Given the description of an element on the screen output the (x, y) to click on. 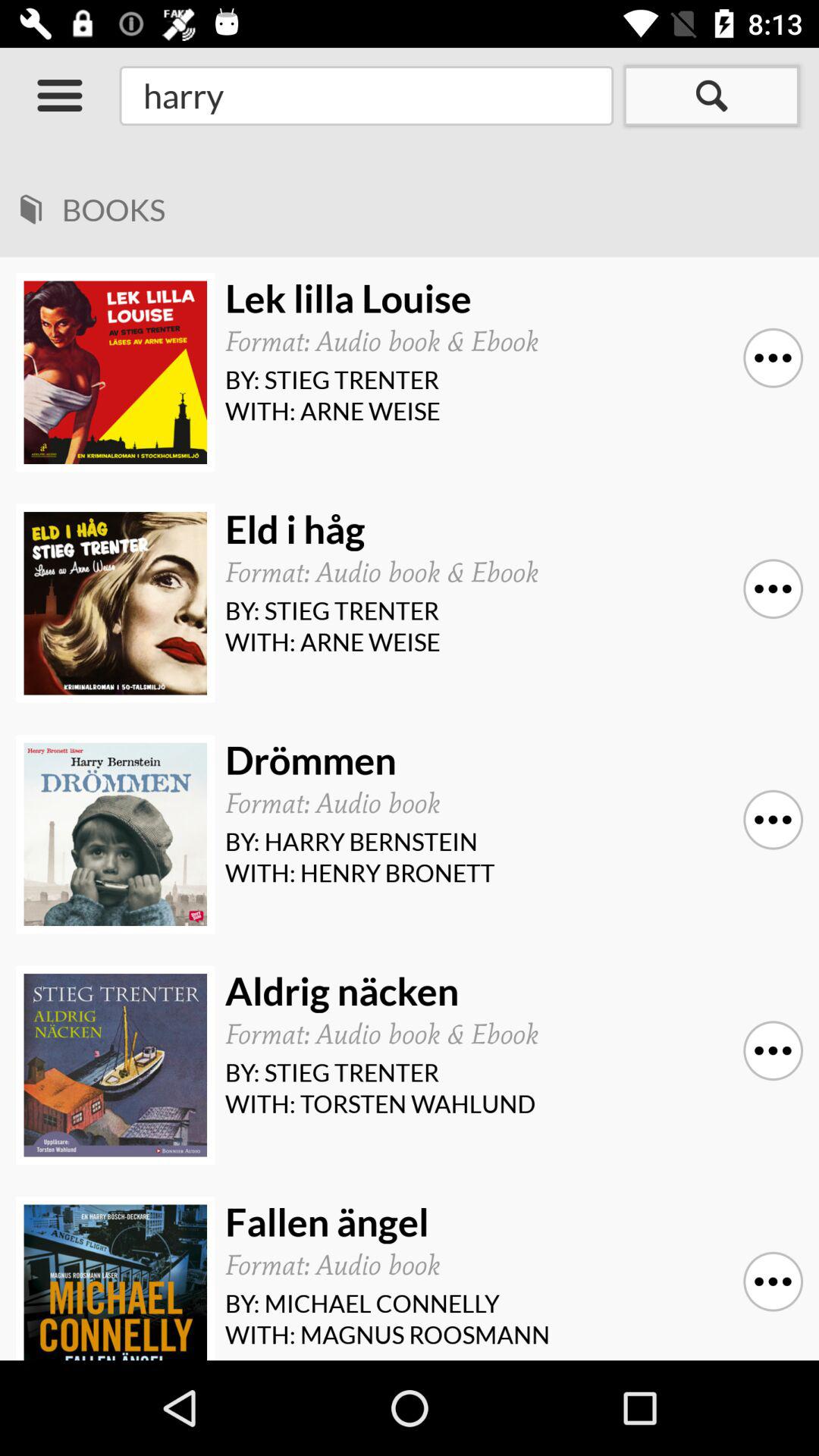
turn on icon above the format: audio book item (508, 1221)
